Given the description of an element on the screen output the (x, y) to click on. 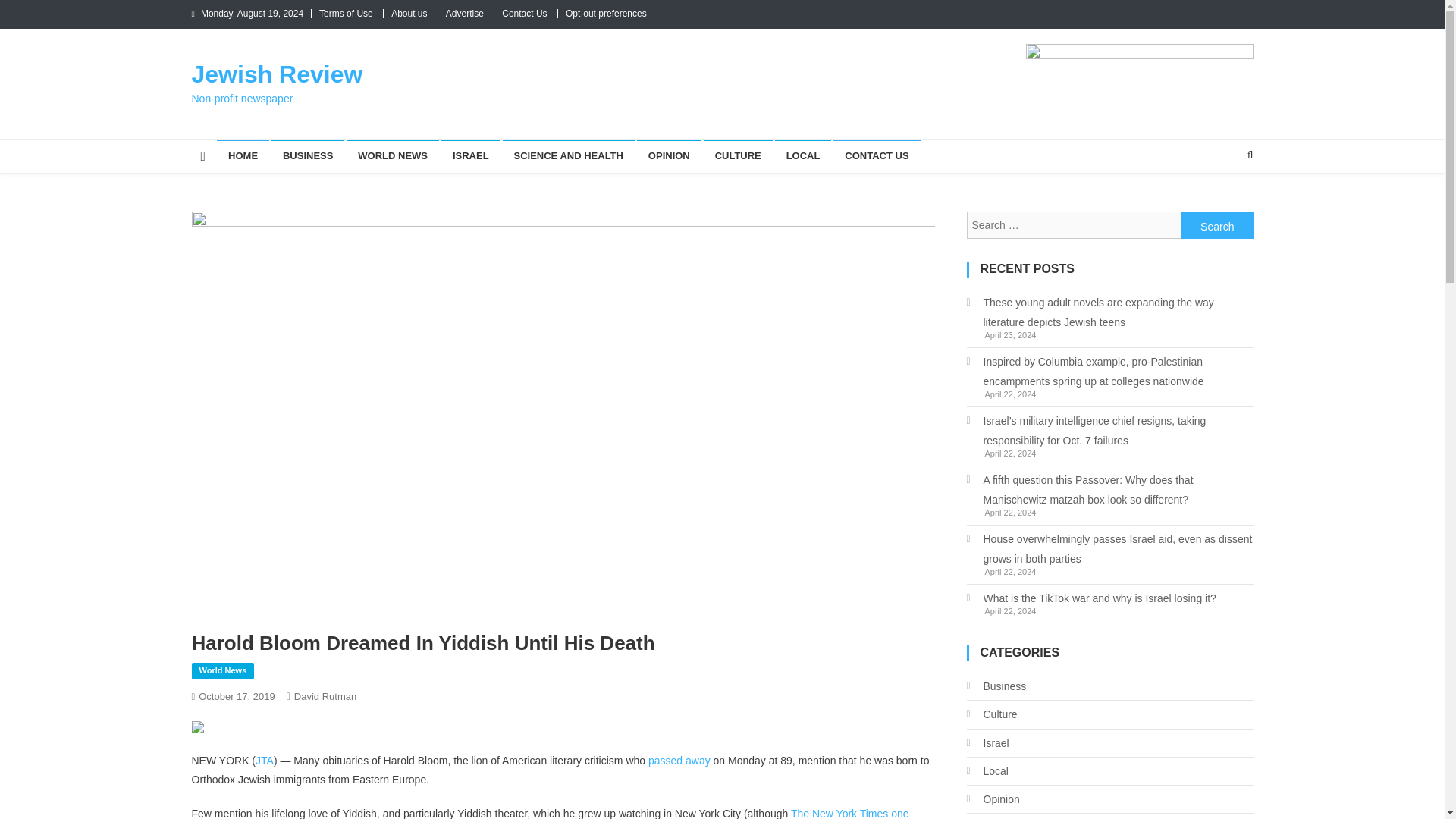
Contact Us (524, 13)
Search (1216, 225)
David Rutman (325, 696)
Search (1216, 225)
Terms of Use (345, 13)
BUSINESS (306, 155)
OPINION (669, 155)
CONTACT US (876, 155)
WORLD NEWS (392, 155)
LOCAL (802, 155)
